Given the description of an element on the screen output the (x, y) to click on. 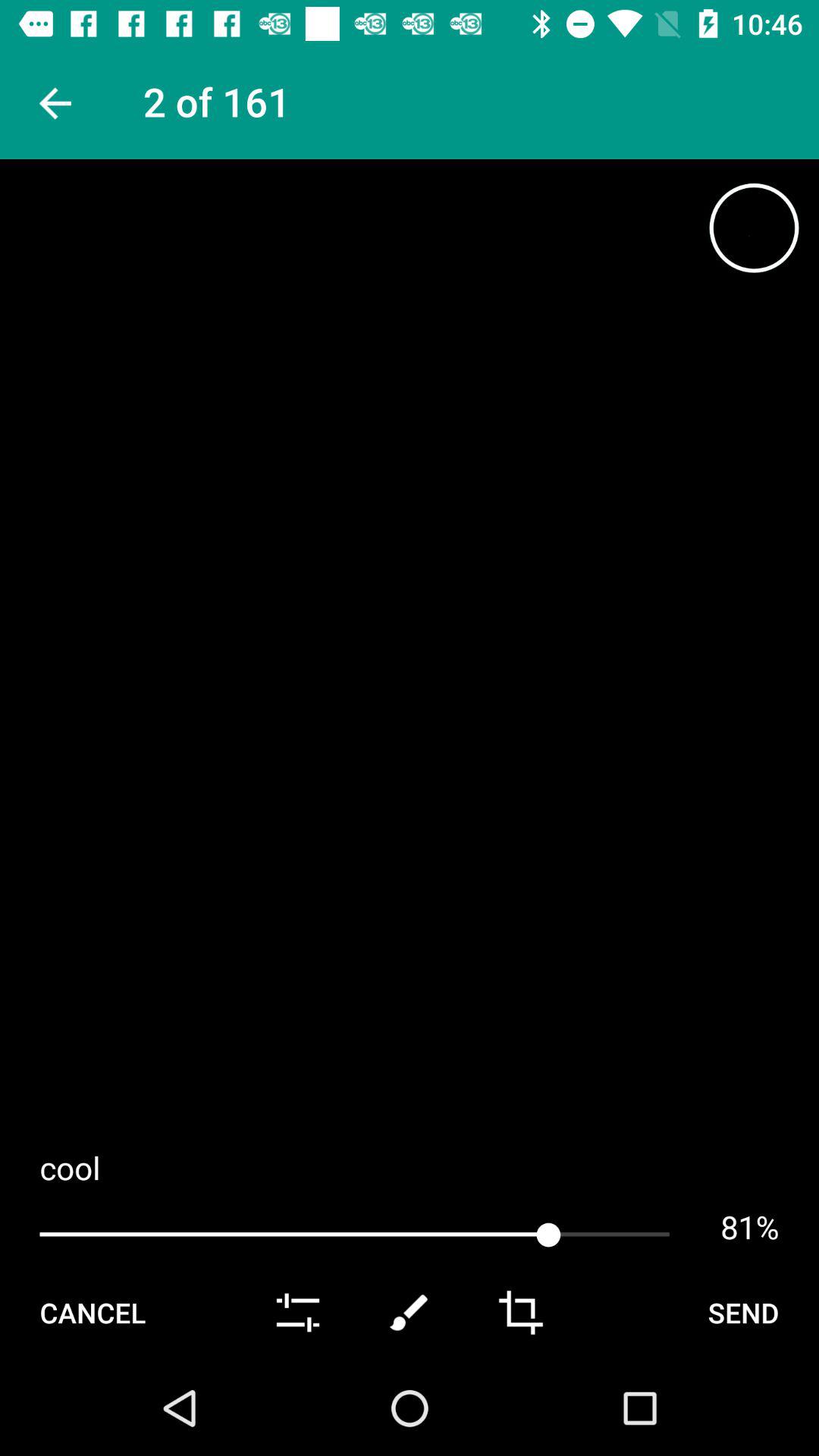
choose the send app (743, 1312)
